Given the description of an element on the screen output the (x, y) to click on. 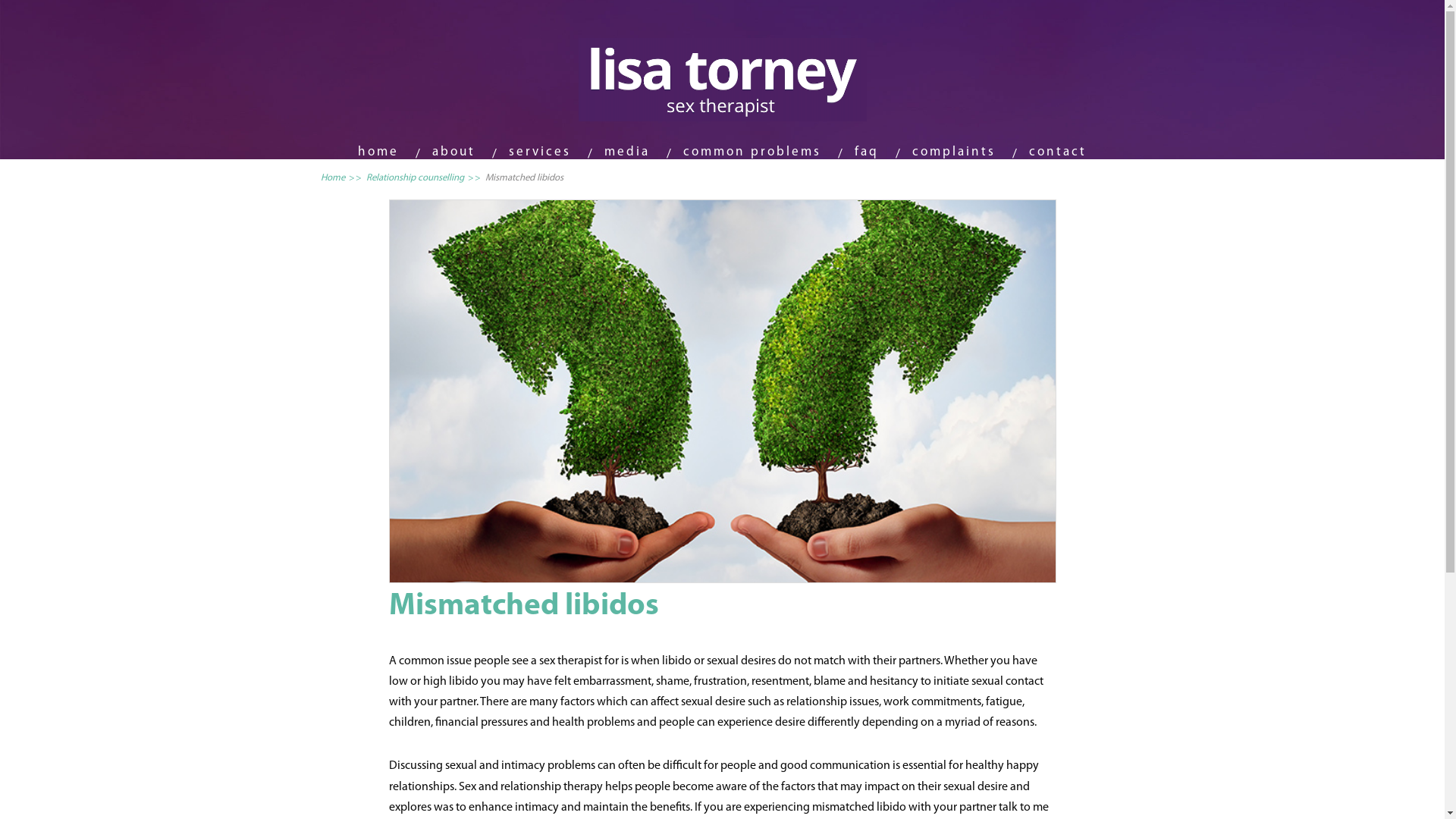
about Element type: text (453, 152)
common problems Element type: text (751, 152)
Relationship counselling >> Element type: text (424, 177)
home Element type: text (378, 152)
Home >> Element type: text (342, 177)
Different Directions Element type: hover (721, 391)
media Element type: text (626, 152)
complaints Element type: text (953, 152)
services Element type: text (539, 152)
contact Element type: text (1057, 152)
faq Element type: text (866, 152)
